Given the description of an element on the screen output the (x, y) to click on. 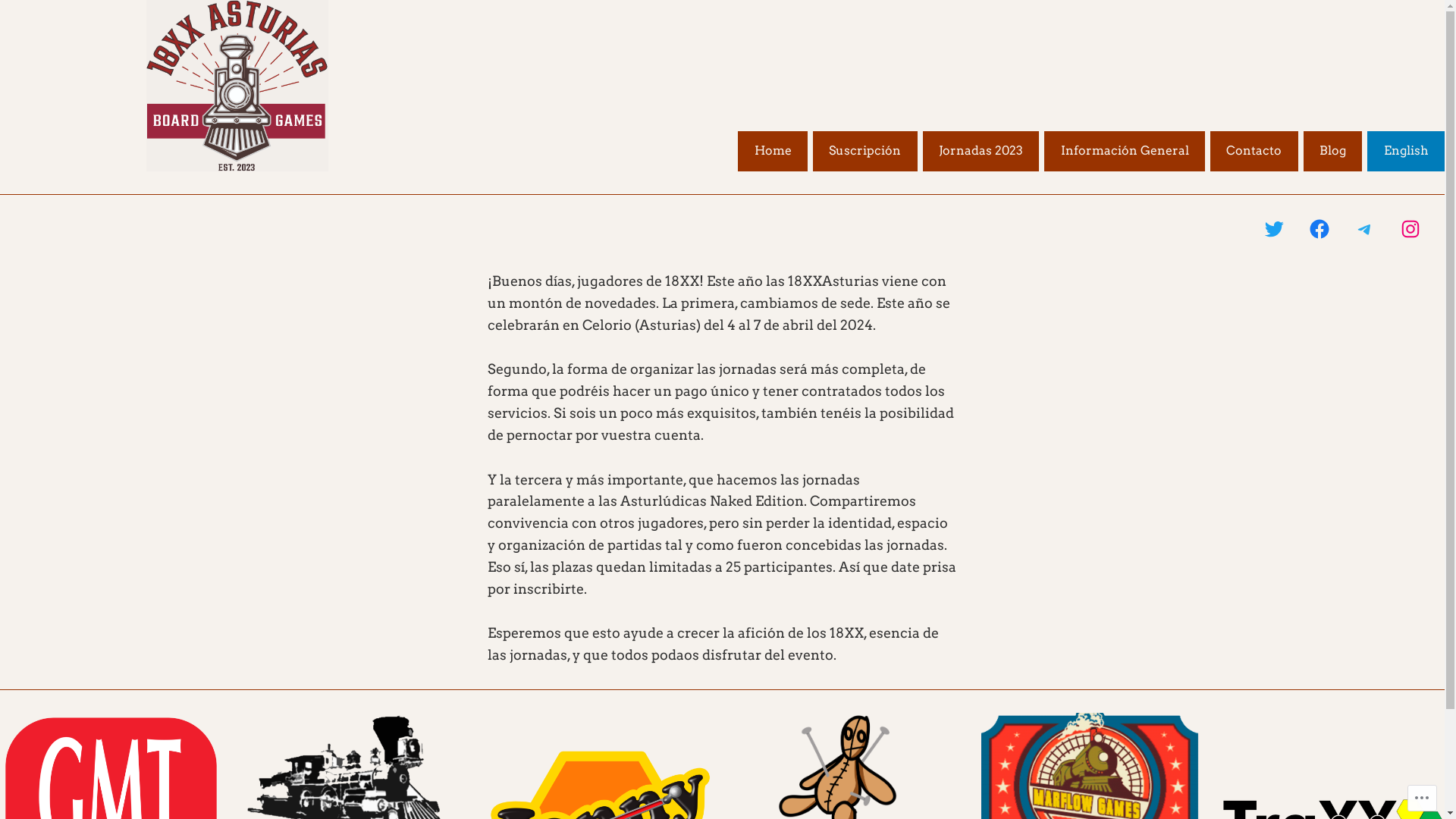
Home Element type: text (772, 151)
Contacto Element type: text (1254, 151)
English Element type: text (1405, 151)
Blog Element type: text (1332, 151)
Jornadas 2023 Element type: text (980, 151)
